Given the description of an element on the screen output the (x, y) to click on. 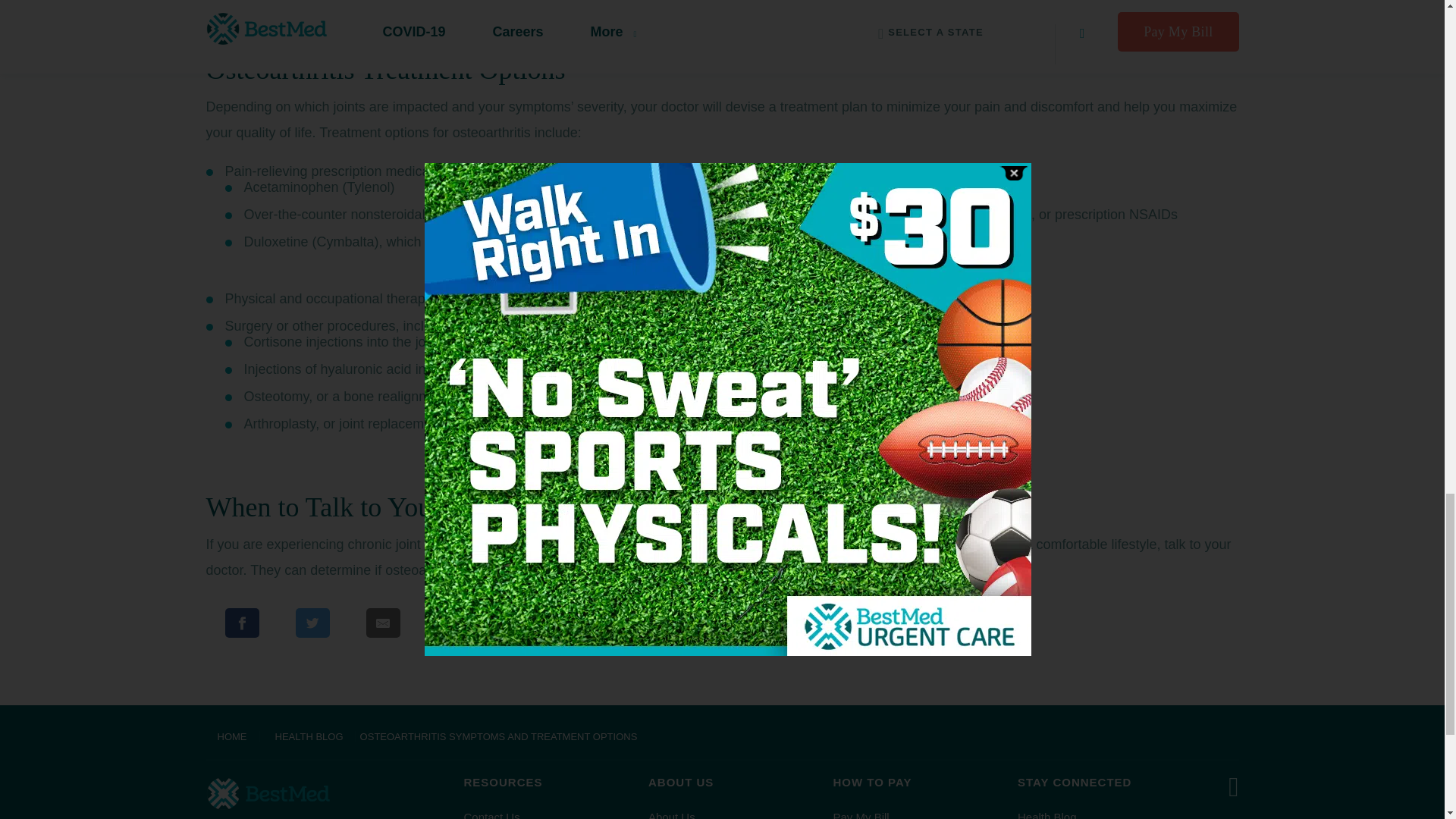
Contact Us (491, 814)
HEALTH BLOG (309, 736)
HOME (233, 736)
About Us (671, 814)
